Given the description of an element on the screen output the (x, y) to click on. 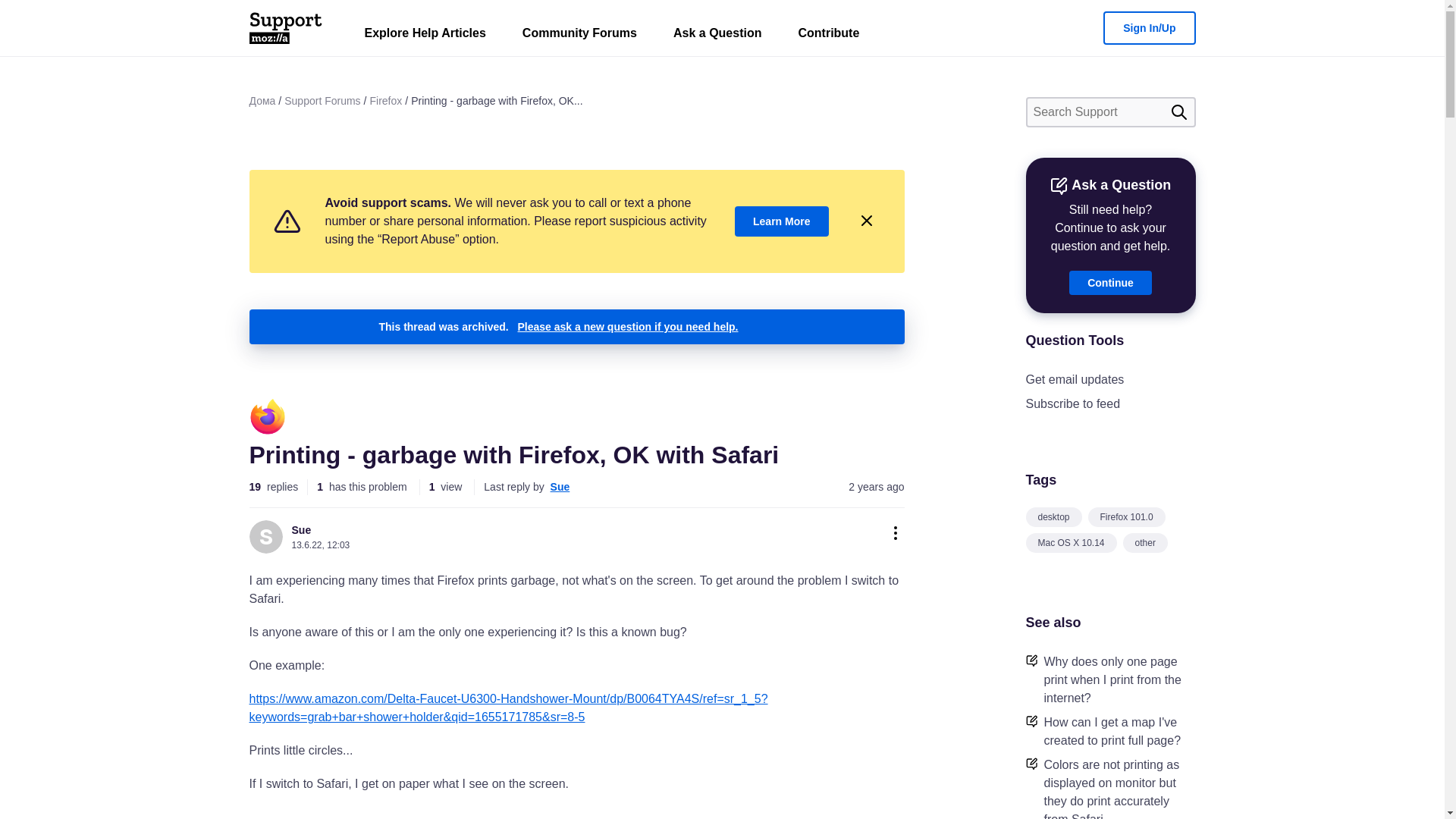
Community Forums (579, 37)
Explore Help Articles (424, 37)
Ask a Question (716, 37)
